Given the description of an element on the screen output the (x, y) to click on. 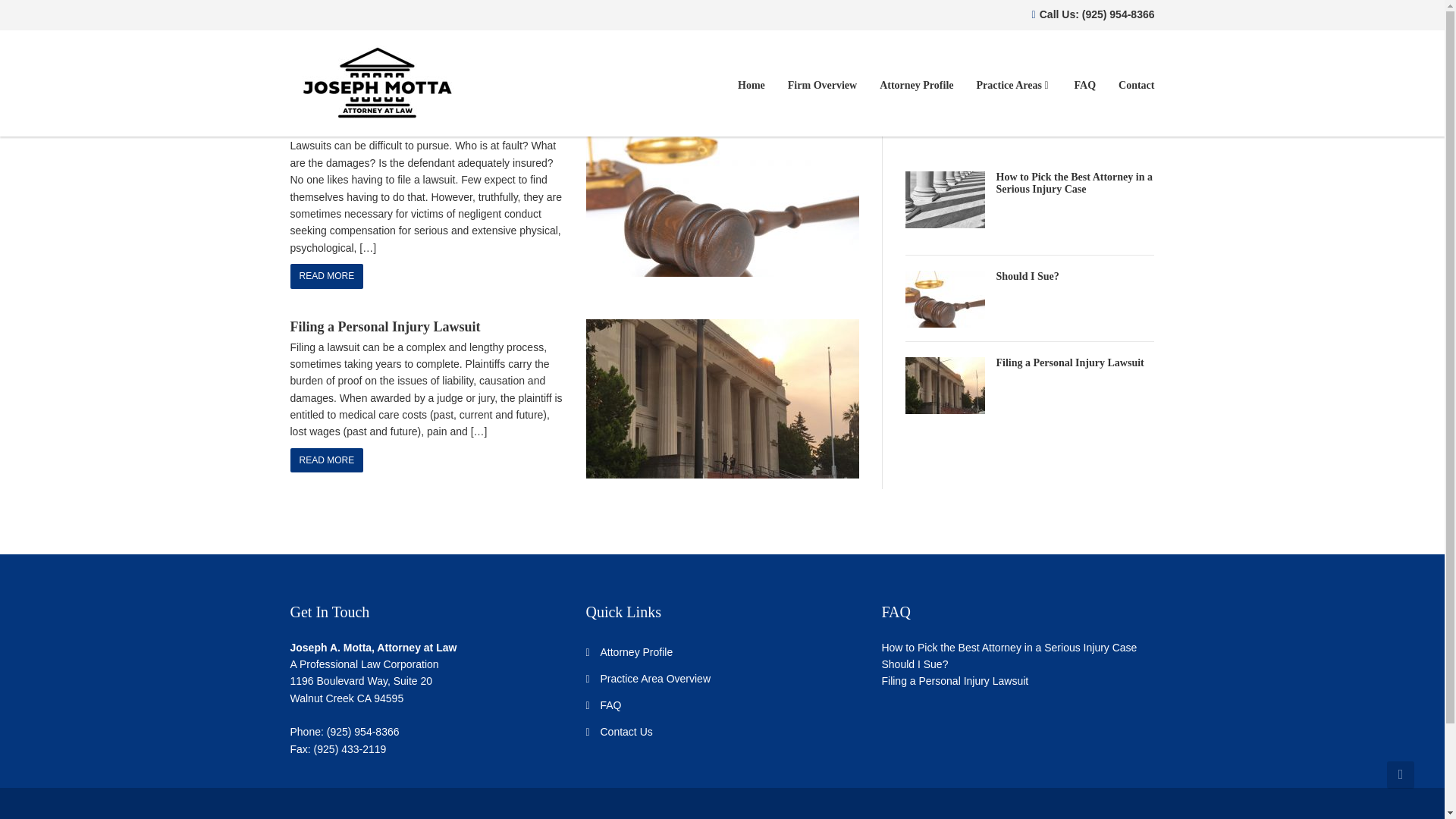
Home (629, 53)
Practice Areas (1012, 85)
Contact (1130, 85)
Firm Overview (821, 85)
Home (751, 85)
Practice Areas (1012, 85)
Firm Overview (821, 85)
READ MORE (325, 275)
September (719, 53)
2017 (669, 53)
